Given the description of an element on the screen output the (x, y) to click on. 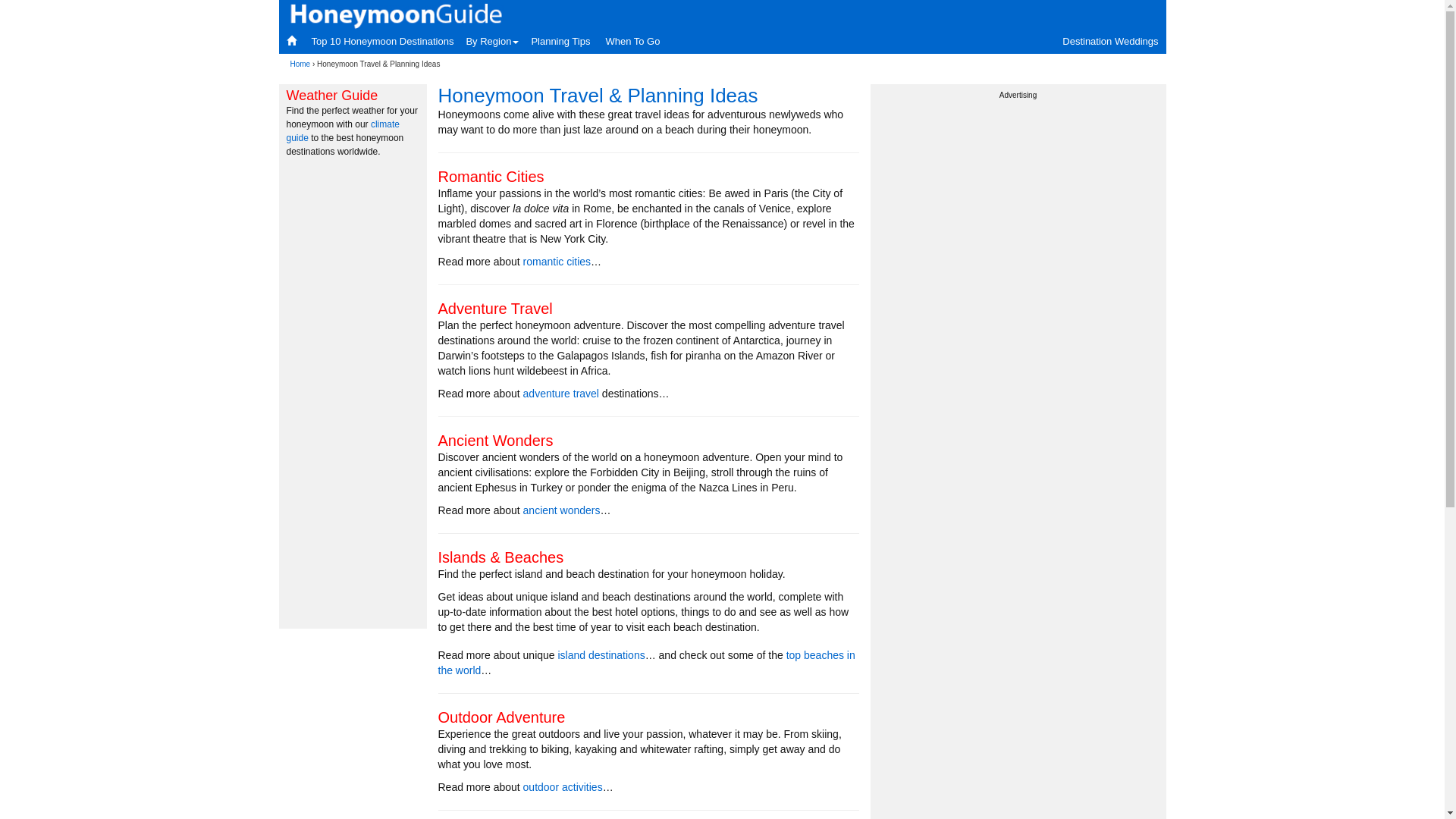
Advertisement Element type: hover (354, 393)
Advertisement Element type: hover (1018, 212)
romantic cities Element type: text (556, 261)
adventure travel Element type: text (561, 393)
Planning Tips Element type: text (560, 41)
Home Element type: text (299, 63)
outdoor activities Element type: text (562, 787)
ancient wonders Element type: text (561, 510)
Top 10 Honeymoon Destinations Element type: text (382, 41)
When To Go Element type: text (632, 41)
By Region  Element type: text (492, 41)
climate guide Element type: text (342, 131)
Destination Weddings Element type: text (1109, 41)
island destinations Element type: text (601, 655)
top beaches in the world Element type: text (646, 662)
